Given the description of an element on the screen output the (x, y) to click on. 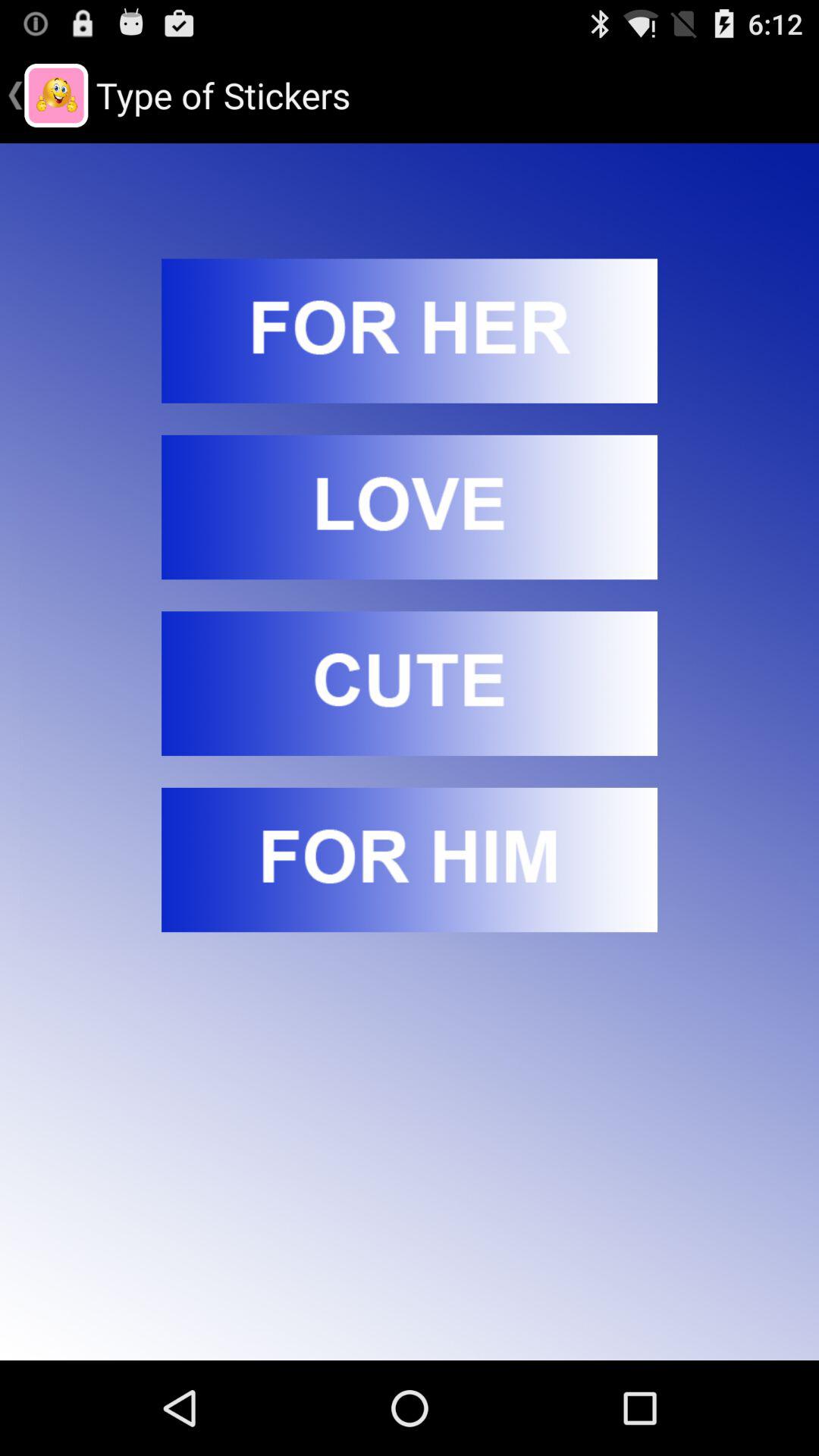
click for 'him sticker (409, 859)
